Given the description of an element on the screen output the (x, y) to click on. 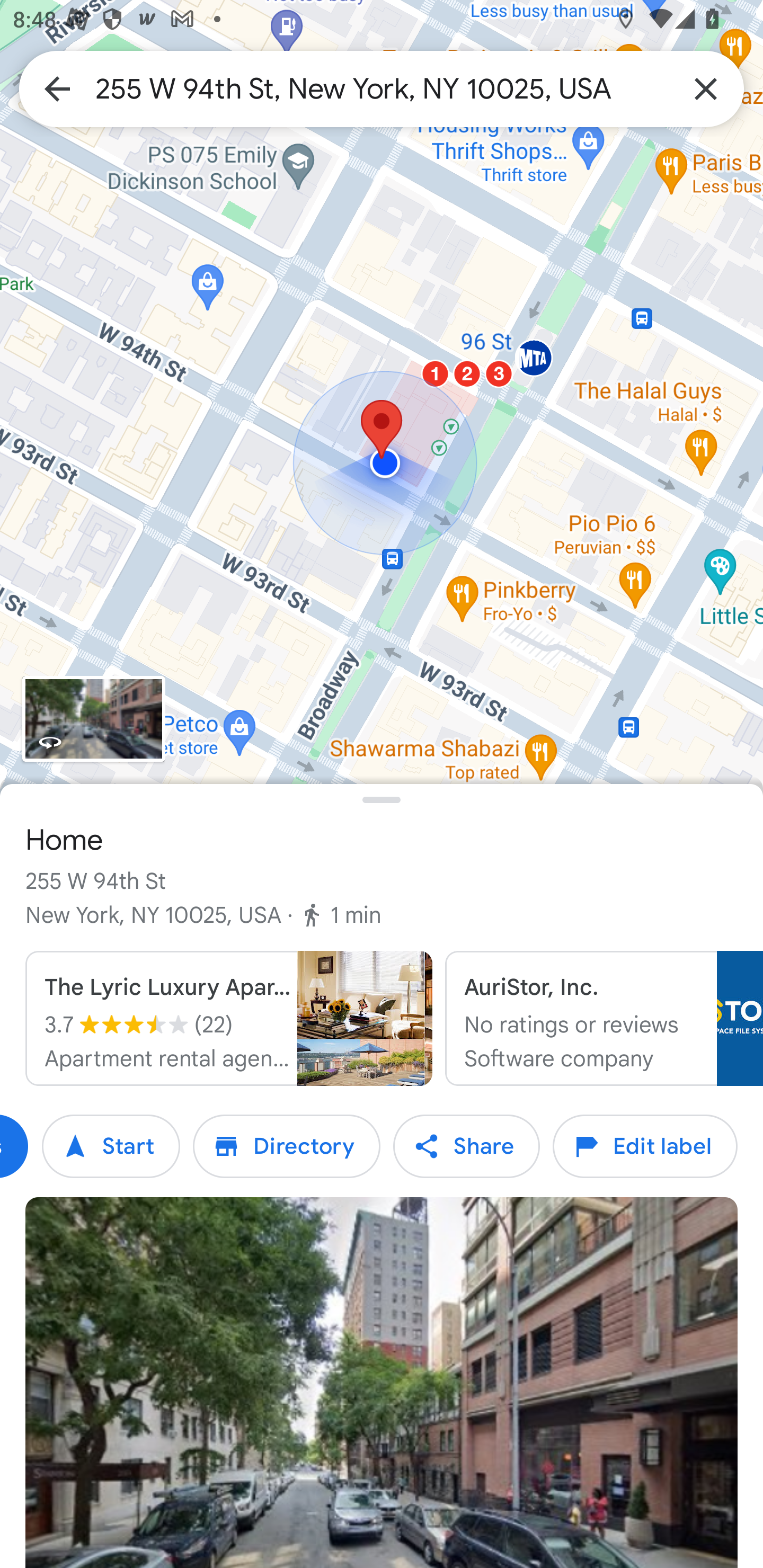
Back (57, 88)
255 W 94th St, New York, NY 10025, USA (381, 88)
Clear (705, 88)
View Street view imagery for 255 W 94th St (93, 718)
Start Start Start (110, 1145)
Directory Directory Directory (286, 1145)
Share Home Share Share Home (466, 1145)
Edit label (644, 1145)
Photo (381, 1382)
